Given the description of an element on the screen output the (x, y) to click on. 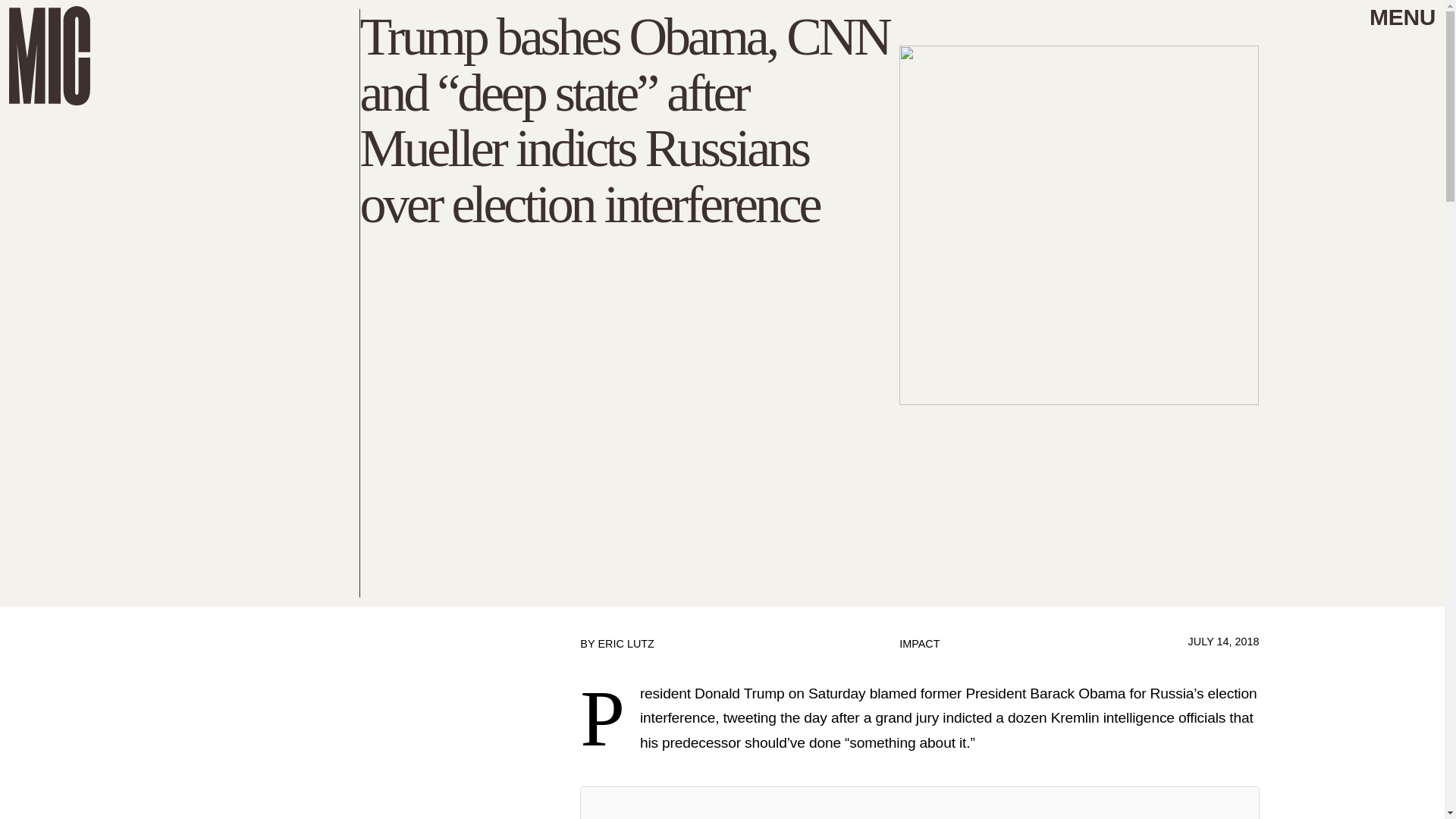
ERIC LUTZ (624, 644)
